Given the description of an element on the screen output the (x, y) to click on. 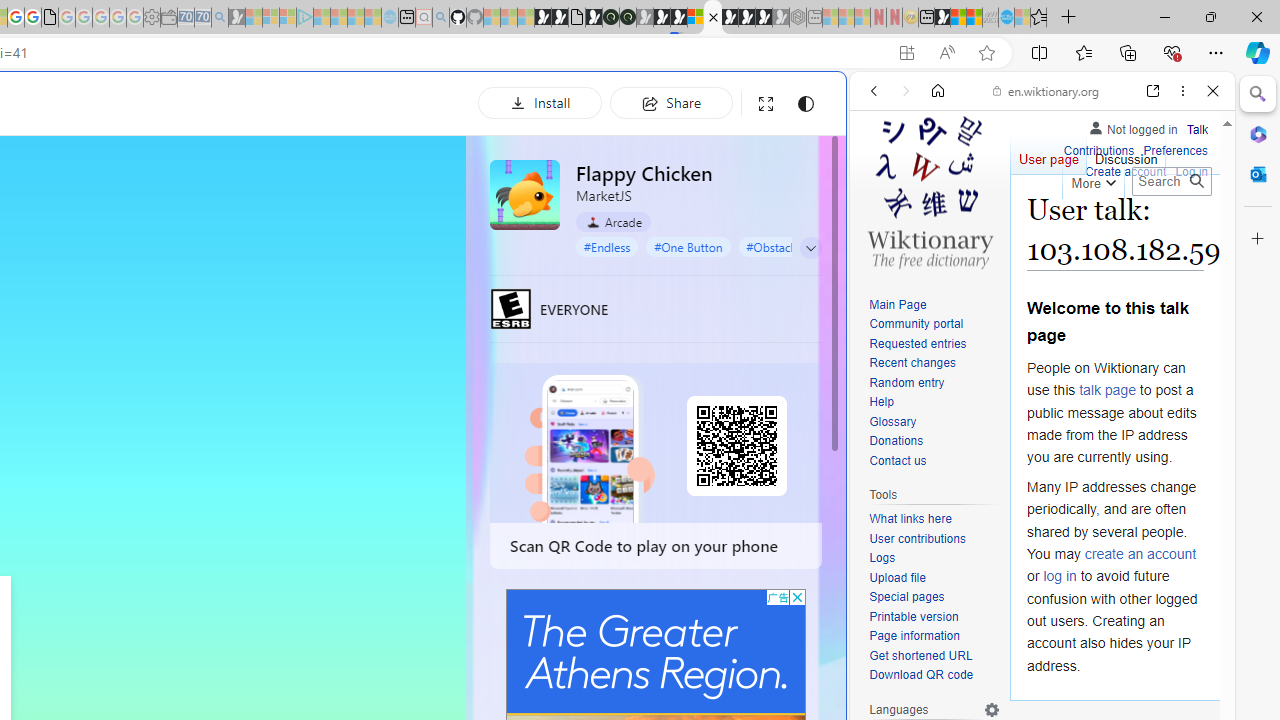
Search Filter, WEB (882, 228)
Main Page (934, 305)
Upload file (897, 577)
Glossary (934, 421)
Special pages (934, 597)
Main Page (897, 303)
Close split screen (844, 102)
Web scope (882, 180)
